Given the description of an element on the screen output the (x, y) to click on. 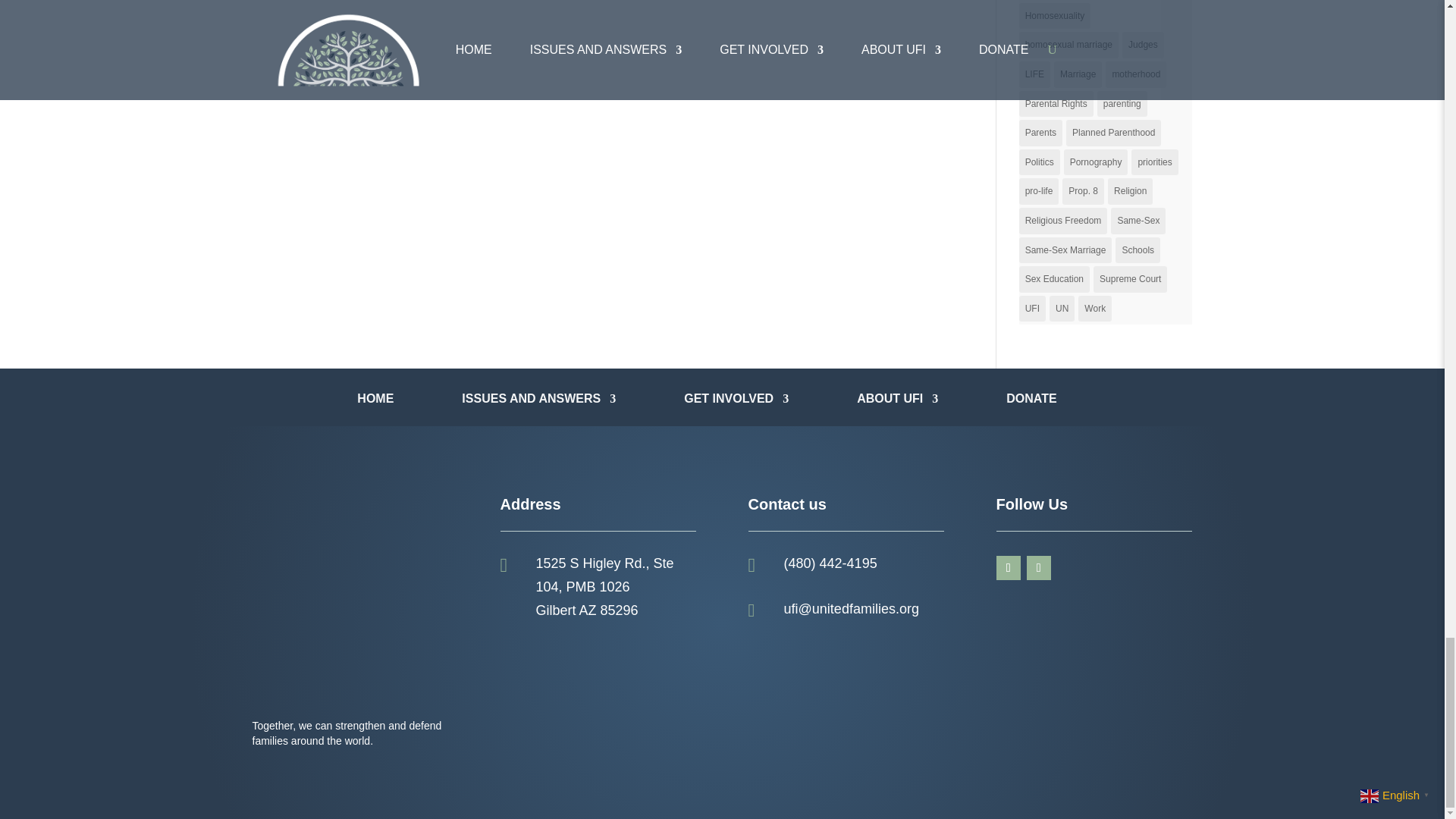
Follow on Facebook (1007, 567)
Follow on Instagram (1038, 567)
